Given the description of an element on the screen output the (x, y) to click on. 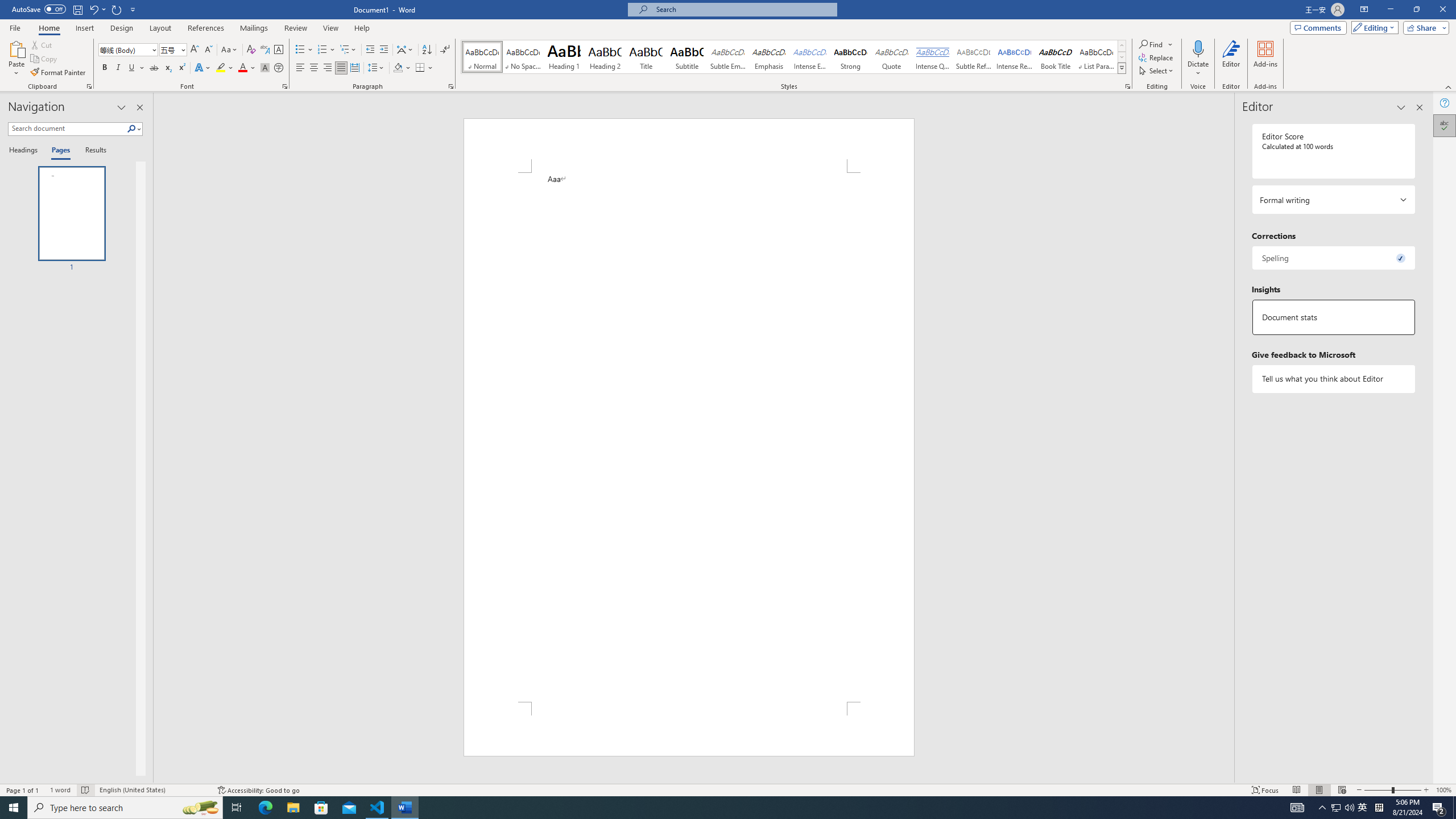
Spelling and Grammar Check No Errors (85, 790)
Tell us what you think about Editor (1333, 379)
Subtle Emphasis (727, 56)
Quote (891, 56)
